Given the description of an element on the screen output the (x, y) to click on. 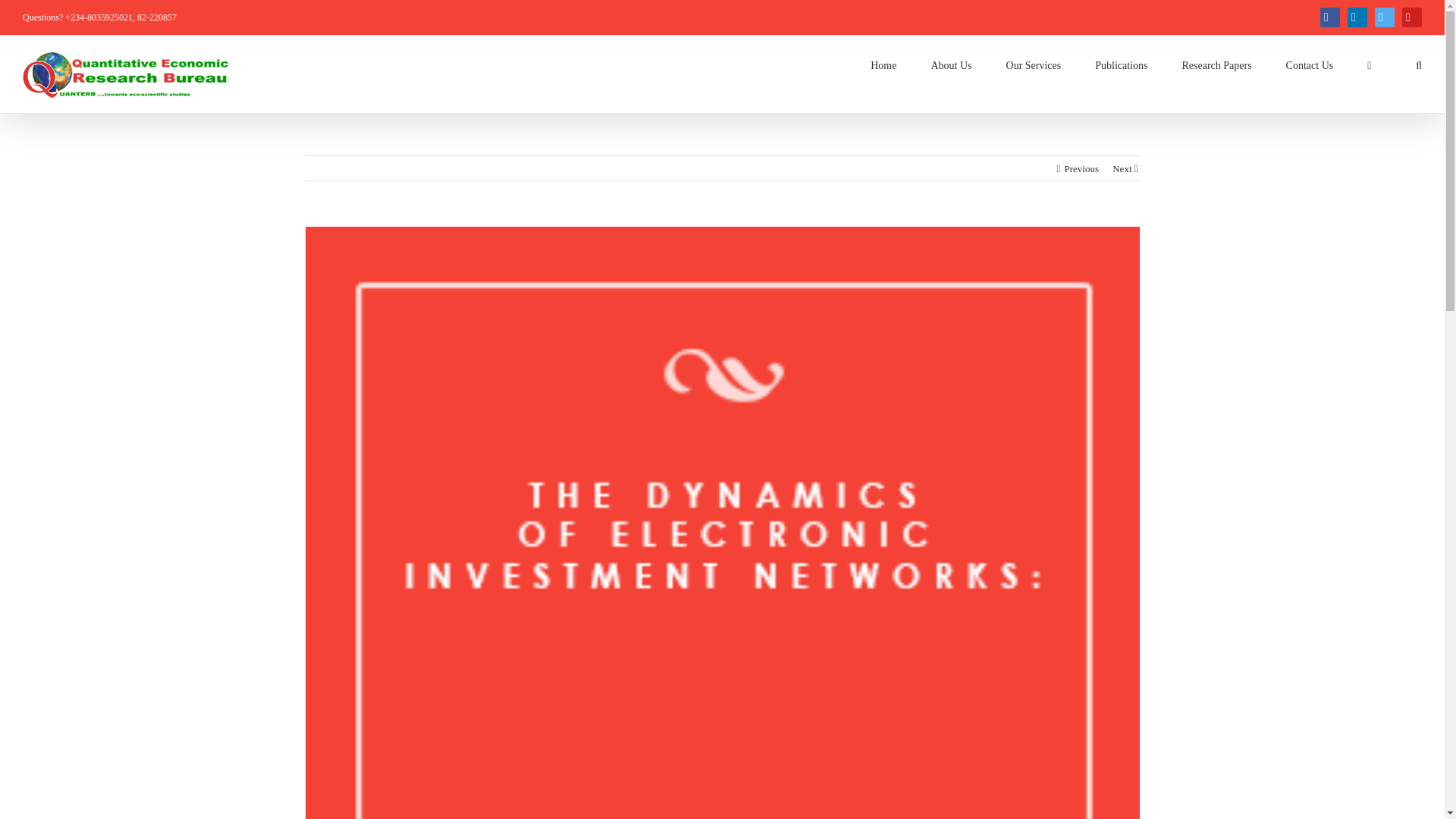
Facebook (1329, 17)
Twitter (1384, 17)
Twitter (1384, 17)
Facebook (1329, 17)
Youtube (1412, 17)
Research Papers (1215, 66)
Linkedin (1357, 17)
Our Services (1033, 66)
Youtube (1412, 17)
Previous (1081, 168)
